Given the description of an element on the screen output the (x, y) to click on. 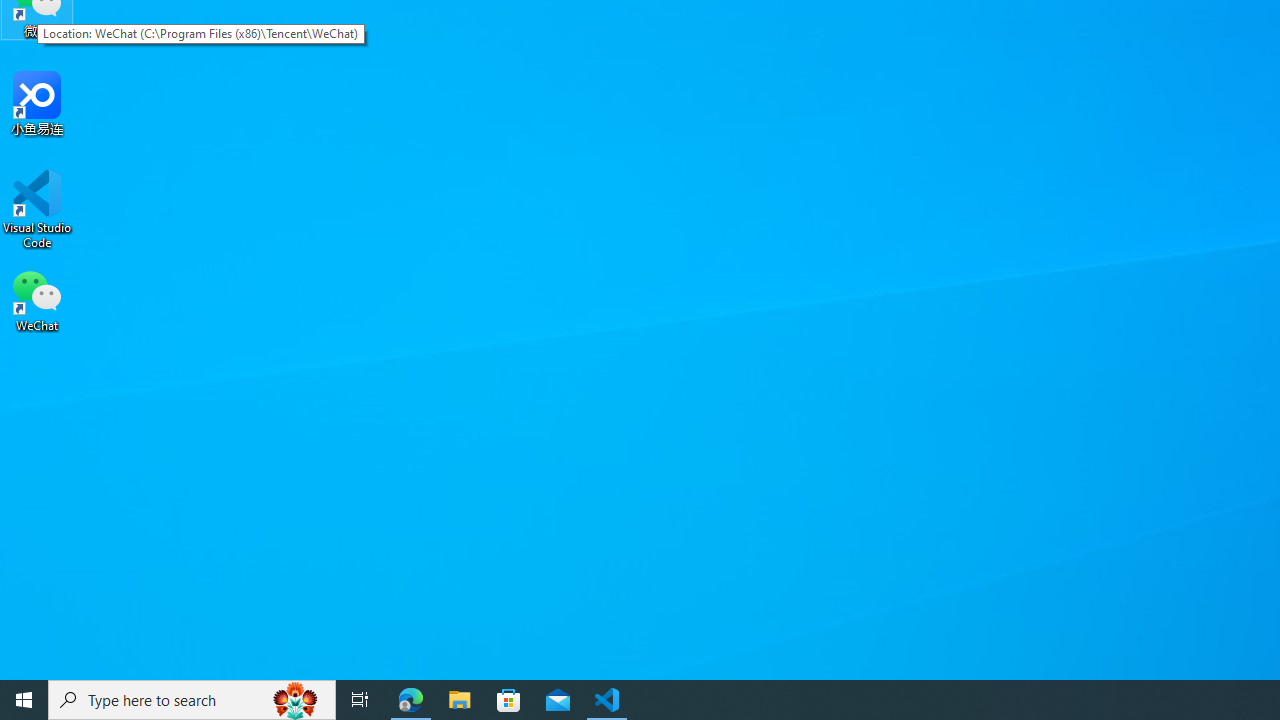
Visual Studio Code (37, 209)
WeChat (37, 299)
